Given the description of an element on the screen output the (x, y) to click on. 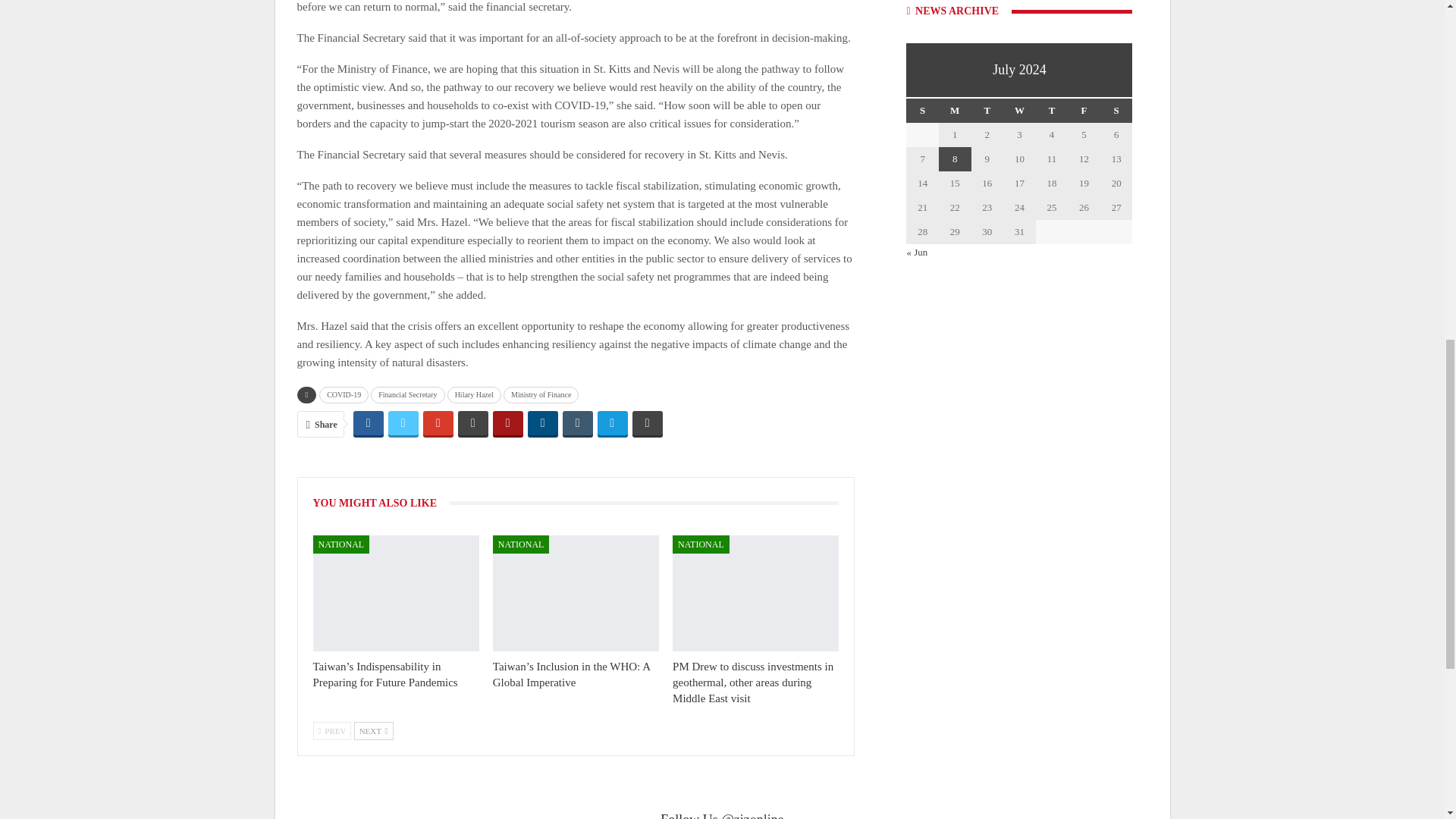
Wednesday (1019, 110)
Tuesday (987, 110)
Monday (955, 110)
Next (373, 730)
Previous (331, 730)
Sunday (922, 110)
